Given the description of an element on the screen output the (x, y) to click on. 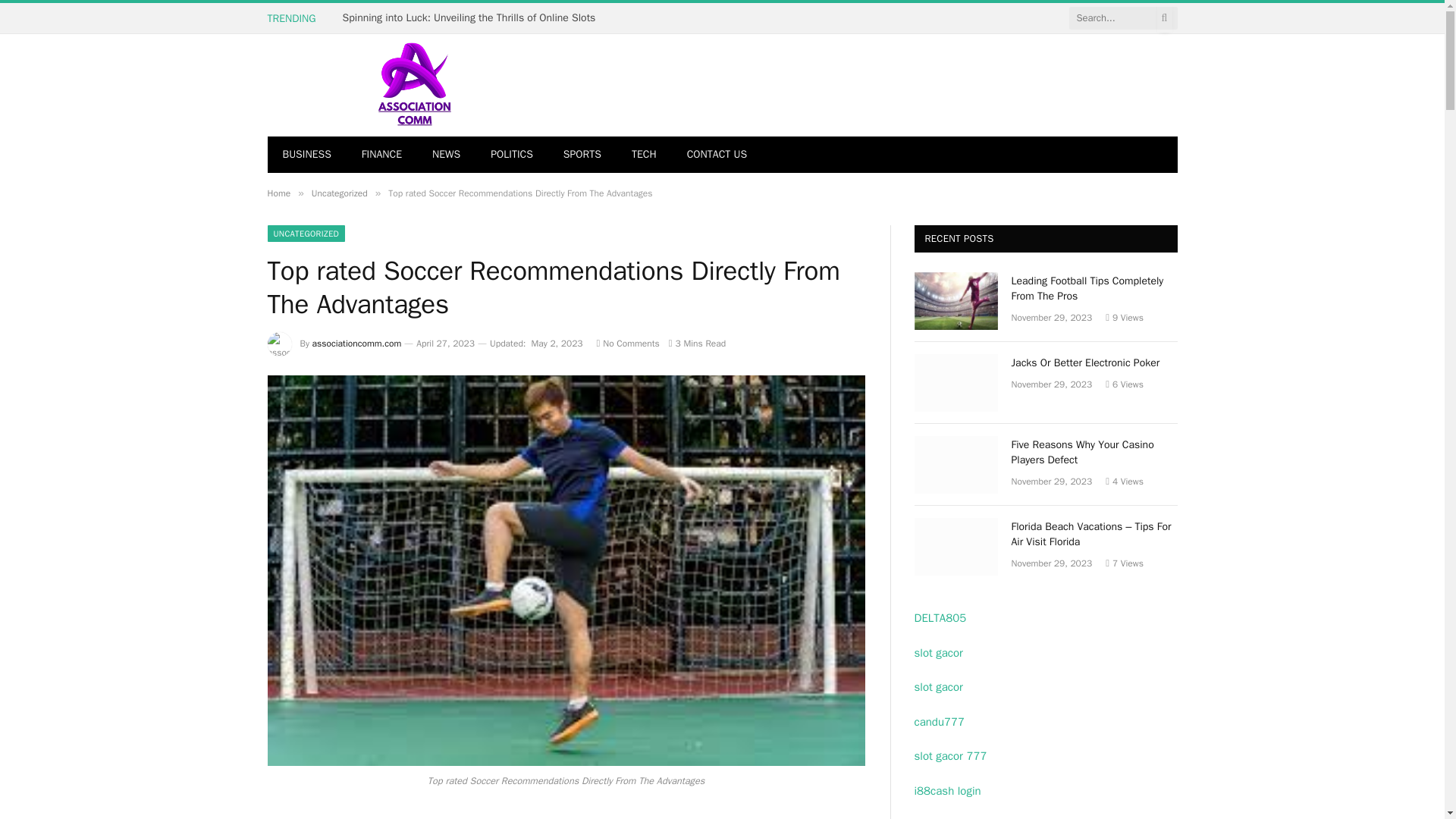
POLITICS (512, 154)
Posts by associationcomm.com (357, 343)
CONTACT US (716, 154)
TECH (643, 154)
No Comments (627, 343)
UNCATEGORIZED (305, 233)
SPORTS (581, 154)
BUSINESS (306, 154)
Uncategorized (339, 193)
